Given the description of an element on the screen output the (x, y) to click on. 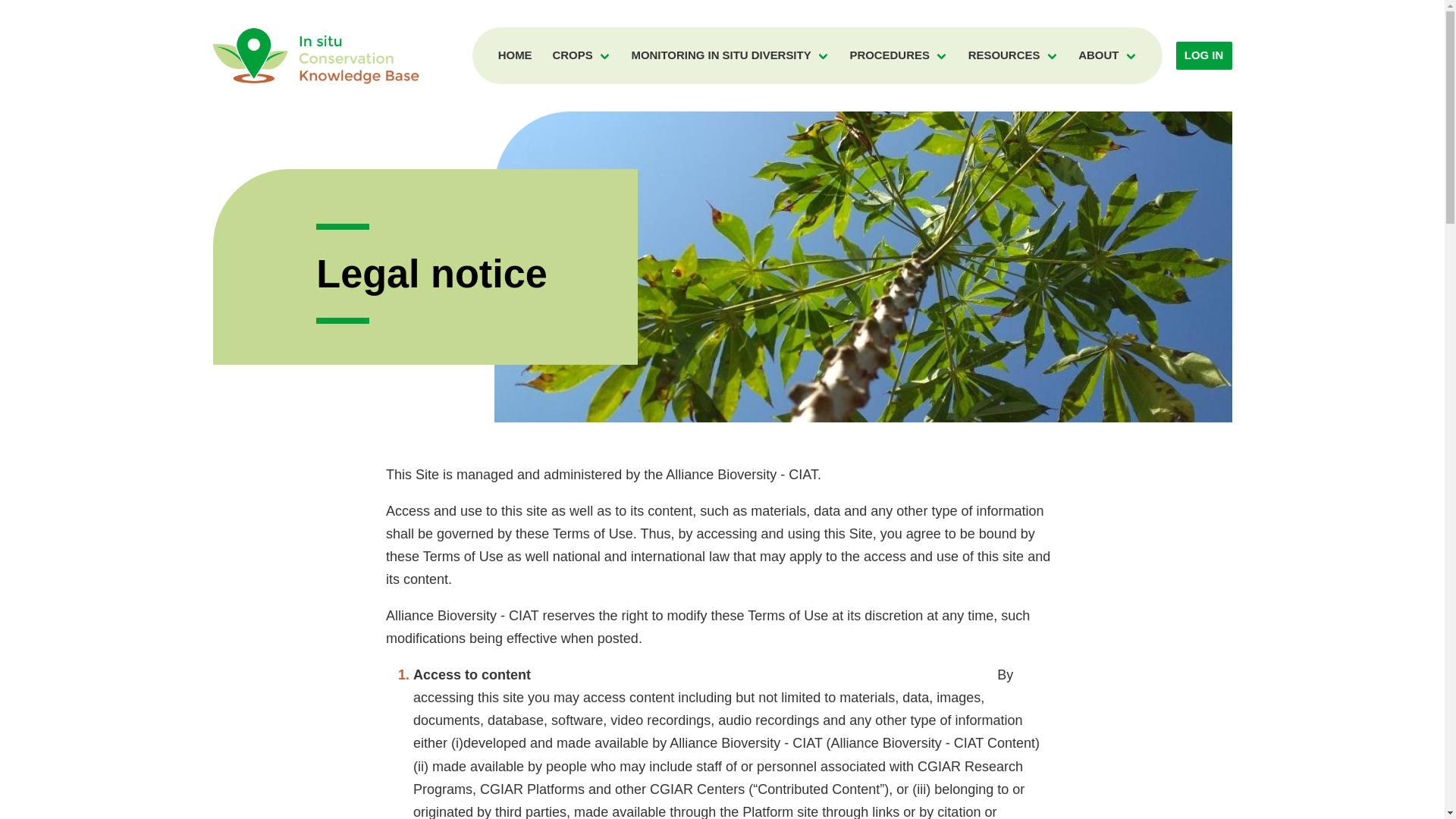
Home (315, 55)
CROPS (581, 55)
ABOUT (1107, 55)
HOME (514, 55)
MONITORING IN SITU DIVERSITY (730, 55)
LOG IN (1203, 55)
RESOURCES (1012, 55)
PROCEDURES (899, 55)
